Given the description of an element on the screen output the (x, y) to click on. 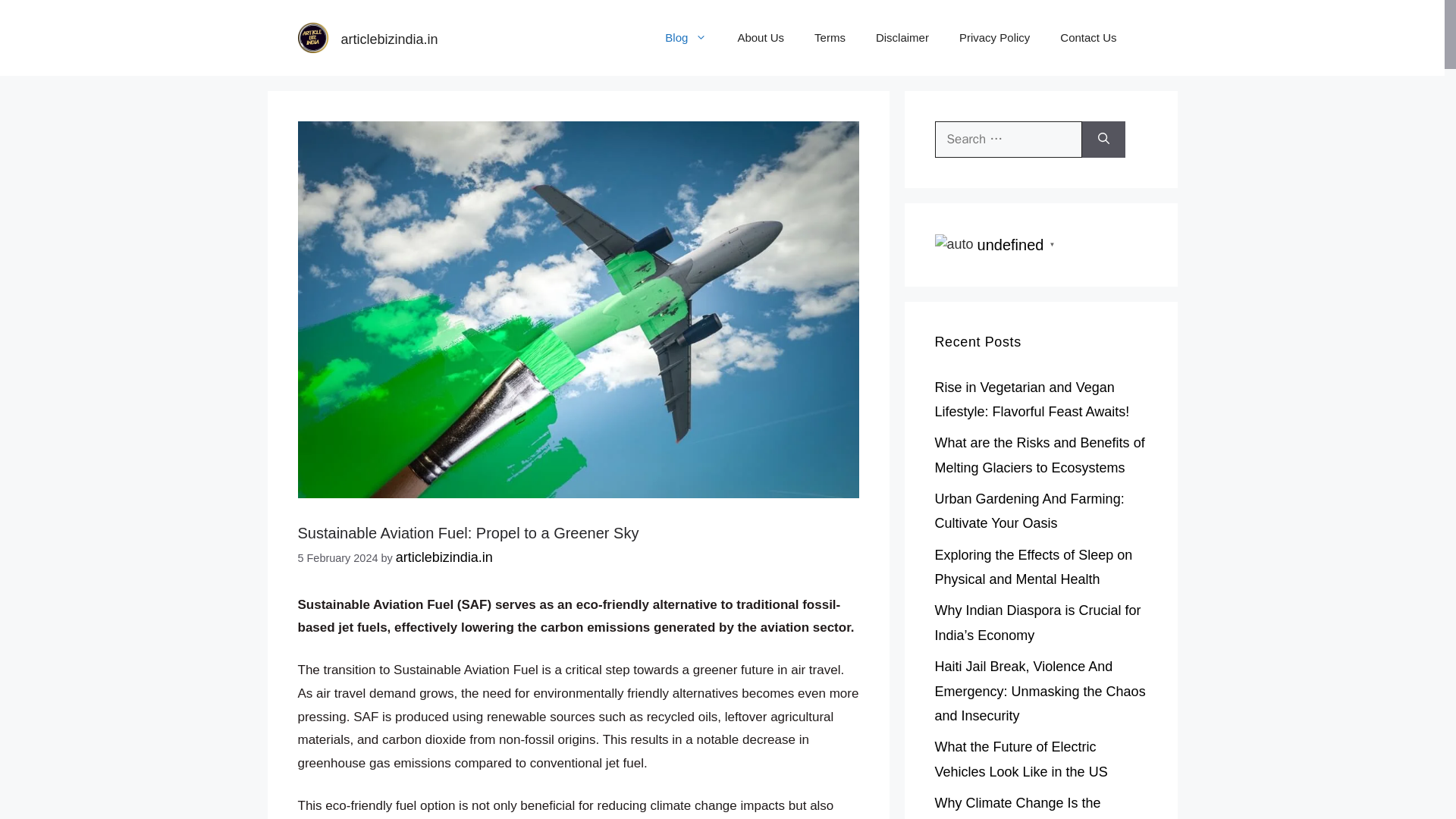
articlebizindia.in (389, 38)
Privacy Policy (994, 37)
Blog (685, 37)
Contact Us (1088, 37)
Terms (829, 37)
View all posts by articlebizindia.in (444, 557)
Search for: (1007, 139)
About Us (760, 37)
Disclaimer (901, 37)
